Given the description of an element on the screen output the (x, y) to click on. 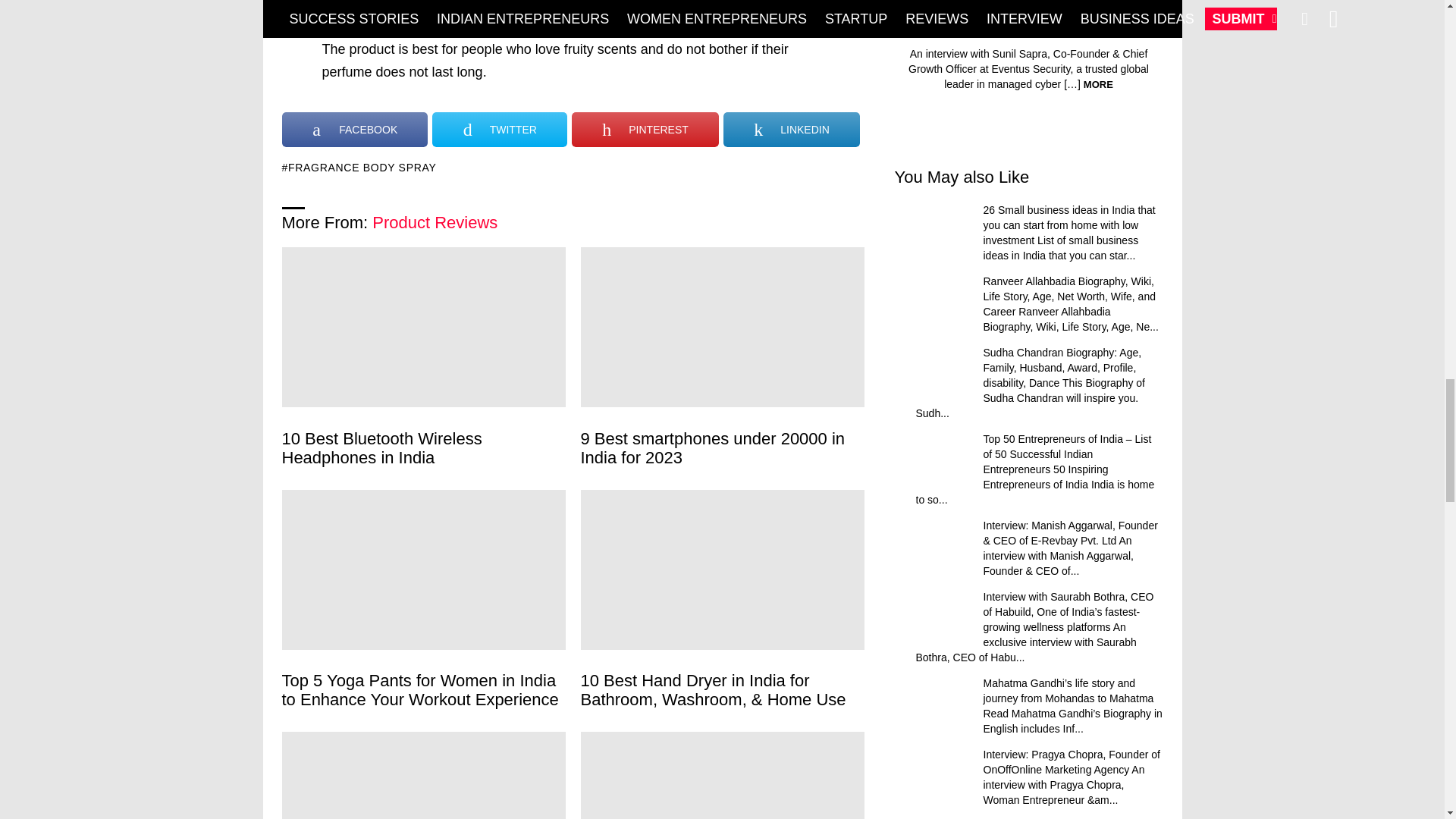
PINTEREST (645, 129)
LINKEDIN (791, 129)
10 Best Bluetooth Wireless Headphones in India (424, 327)
TWITTER (499, 129)
FRAGRANCE BODY SPRAY (359, 167)
Product Reviews (434, 221)
FACEBOOK (355, 129)
